Given the description of an element on the screen output the (x, y) to click on. 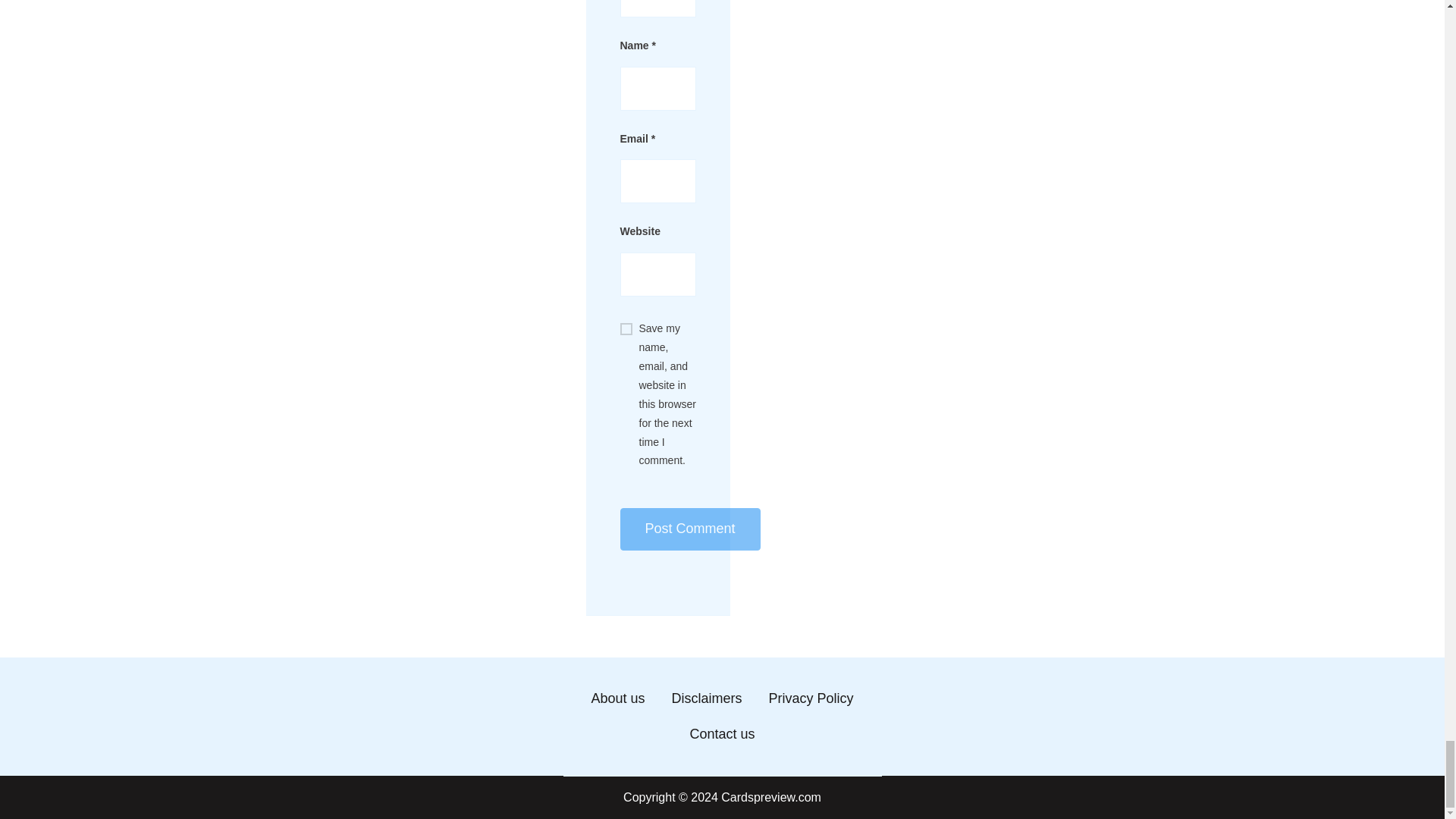
Post Comment (690, 528)
